Given the description of an element on the screen output the (x, y) to click on. 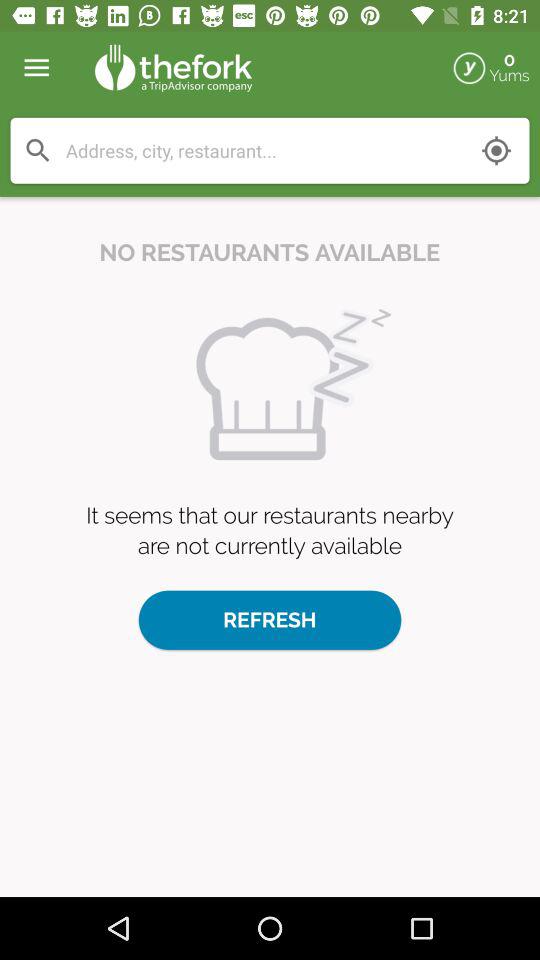
search restaurant address (264, 150)
